Given the description of an element on the screen output the (x, y) to click on. 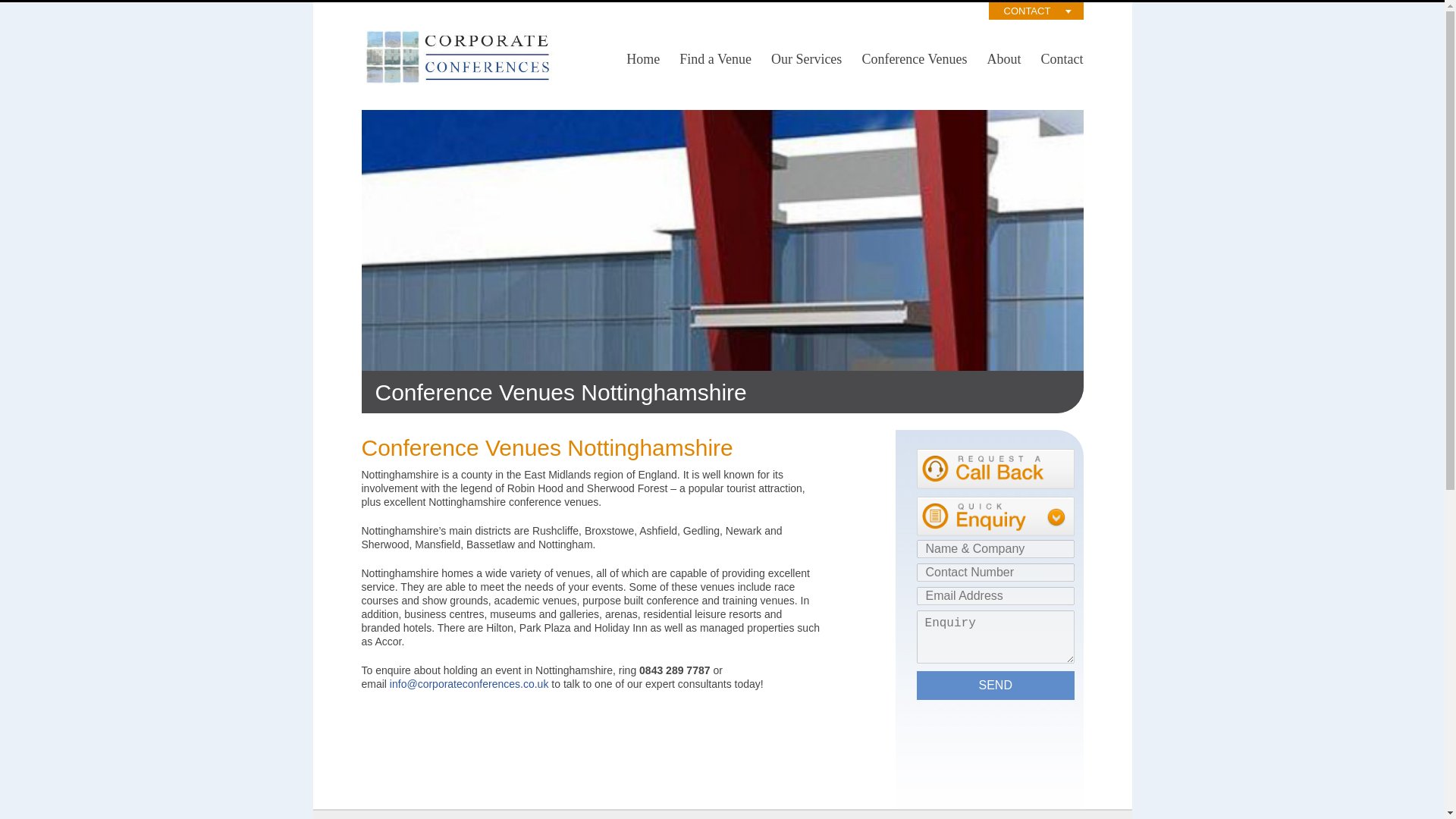
About (1003, 59)
CONTACT (1035, 10)
Conference Venues (913, 59)
Our Services (806, 59)
Send (995, 685)
Find a Venue (715, 59)
Home (642, 59)
